Given the description of an element on the screen output the (x, y) to click on. 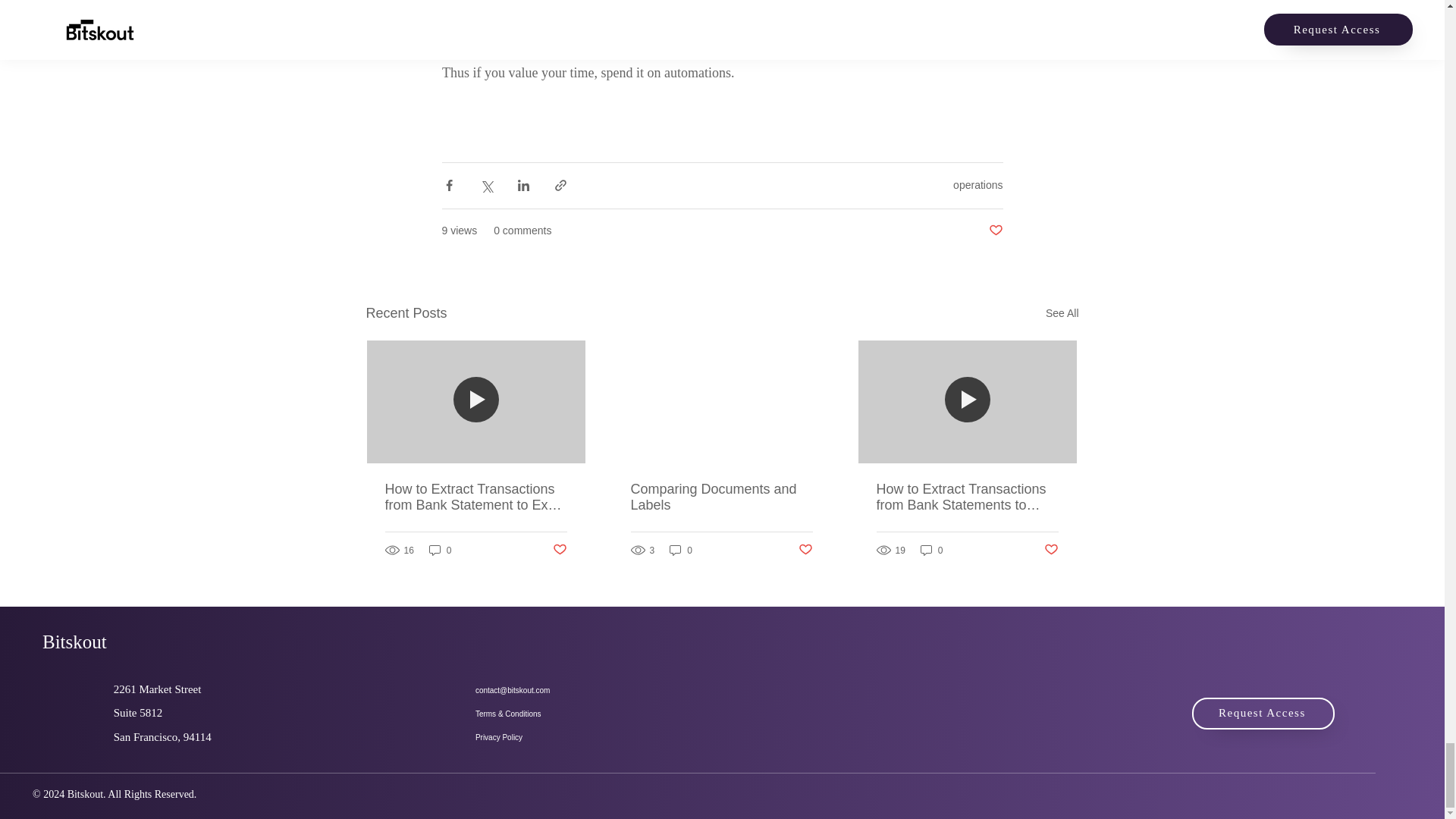
0 (681, 549)
Comparing Documents and Labels (721, 497)
0 (440, 549)
See All (1061, 313)
Post not marked as liked (1050, 549)
Post not marked as liked (804, 549)
Post not marked as liked (995, 230)
Post not marked as liked (558, 549)
